Given the description of an element on the screen output the (x, y) to click on. 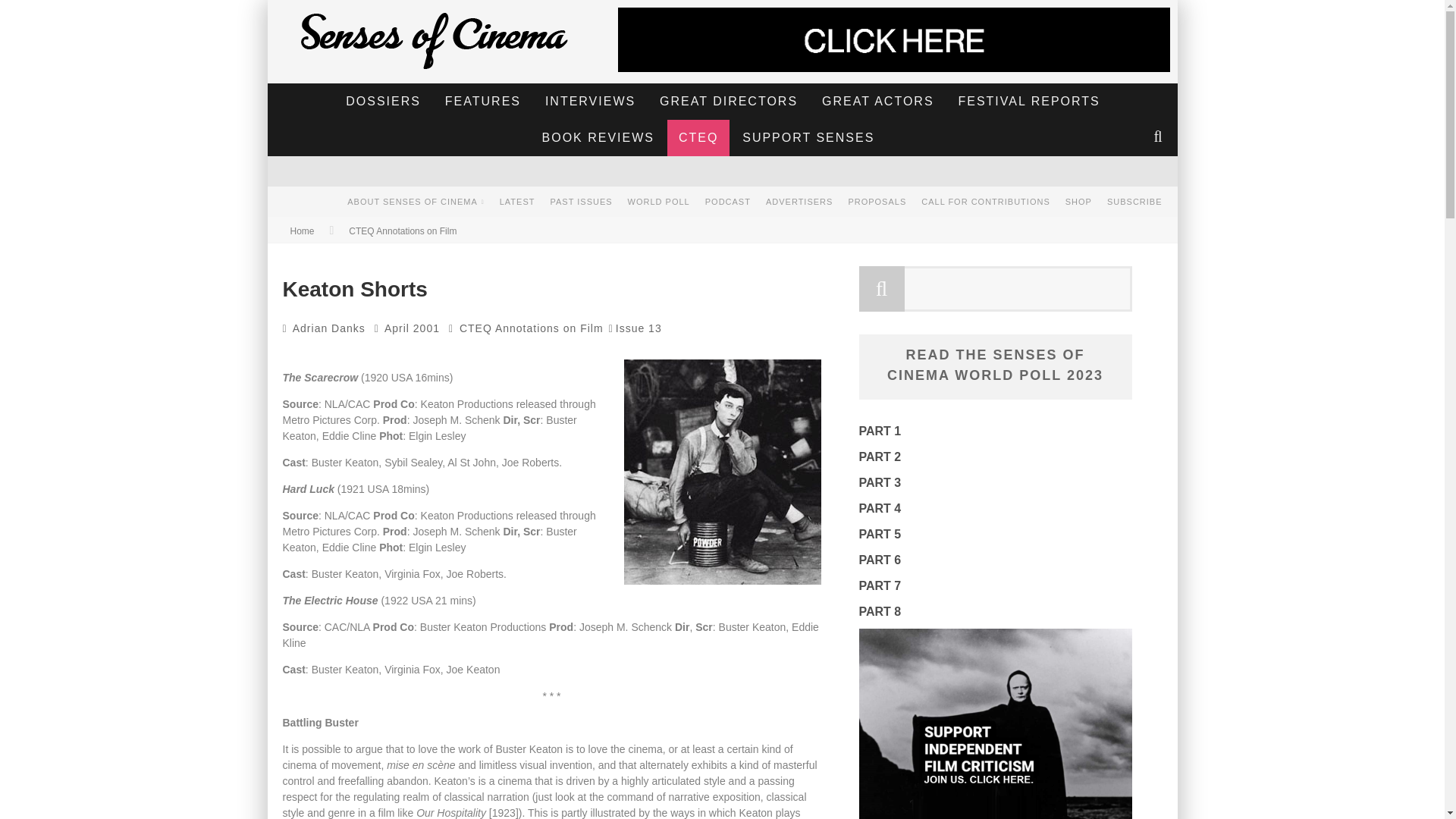
FEATURES (482, 101)
INTERVIEWS (590, 101)
DOSSIERS (383, 101)
